Given the description of an element on the screen output the (x, y) to click on. 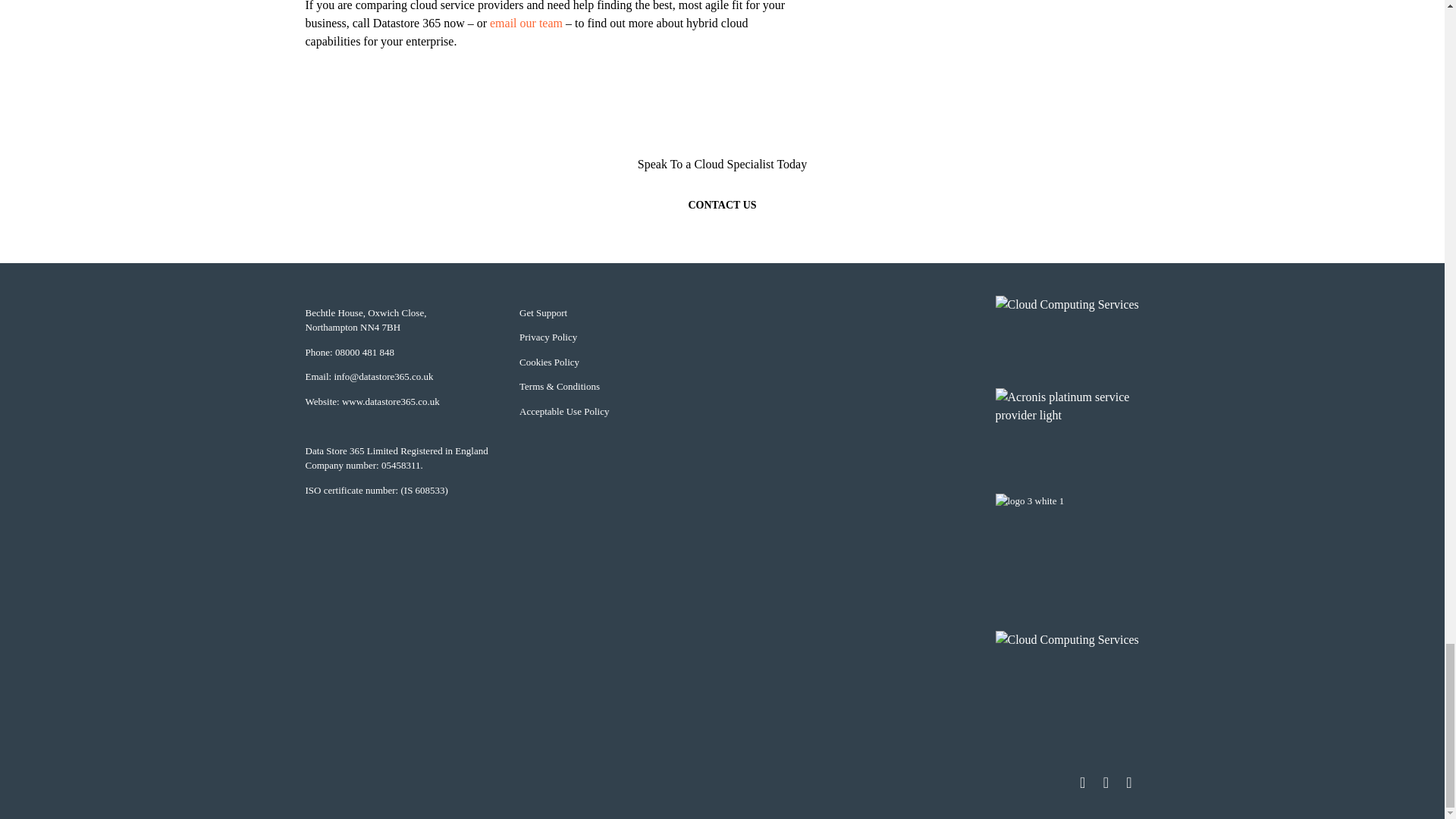
Cloud Computing Services (1066, 307)
Cloud Computing Services (1066, 665)
